Given the description of an element on the screen output the (x, y) to click on. 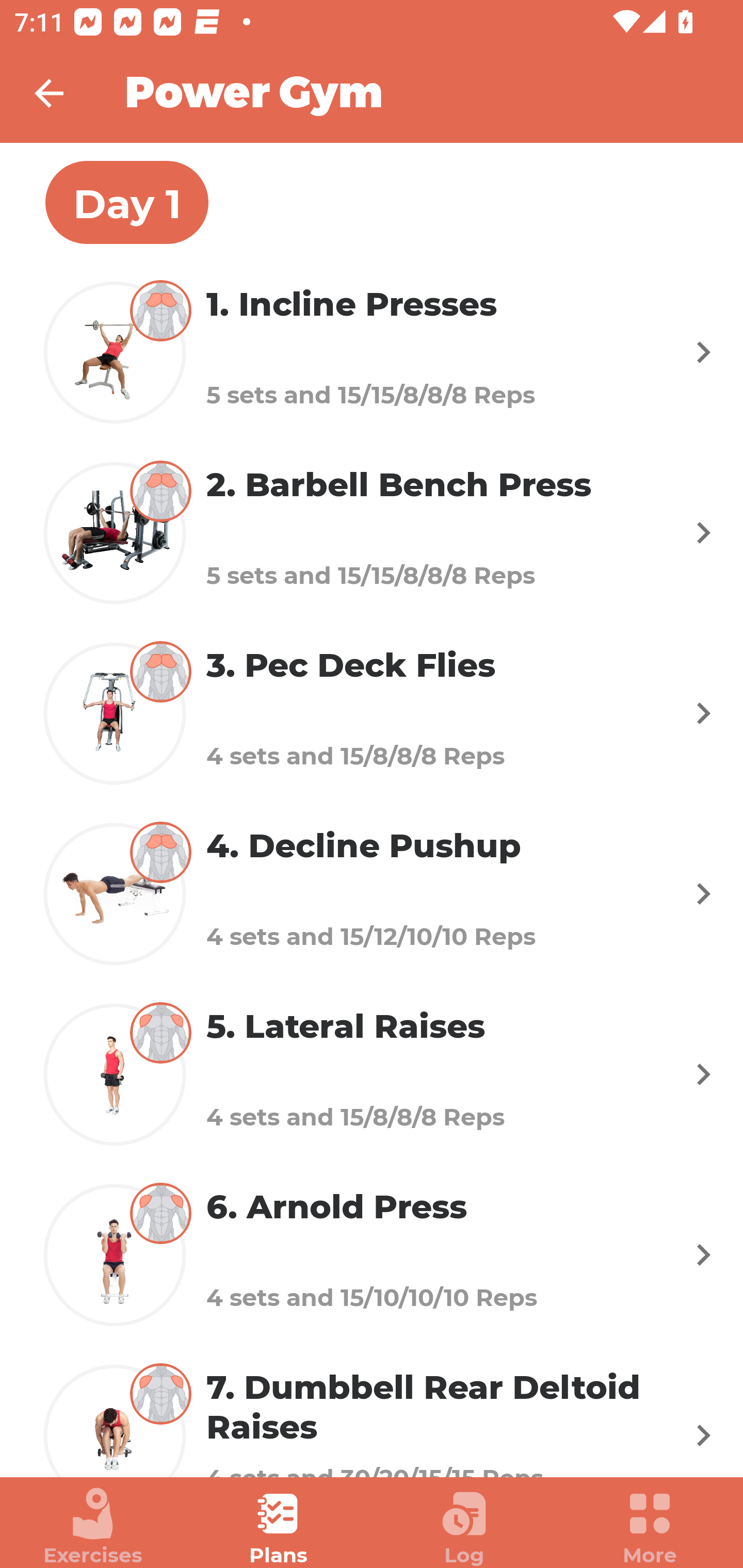
Back (62, 92)
1. Incline Presses 5 sets and 15/15/8/8/8 Reps (371, 351)
2. Barbell Bench Press 5 sets and 15/15/8/8/8 Reps (371, 532)
3. Pec Deck Flies 4 sets and 15/8/8/8 Reps (371, 712)
4. Decline Pushup 4 sets and 15/12/10/10 Reps (371, 893)
5. Lateral Raises 4 sets and 15/8/8/8 Reps (371, 1074)
6. Arnold Press 4 sets and 15/10/10/10 Reps (371, 1255)
Exercises (92, 1527)
Plans (278, 1527)
Log (464, 1527)
More (650, 1527)
